Given the description of an element on the screen output the (x, y) to click on. 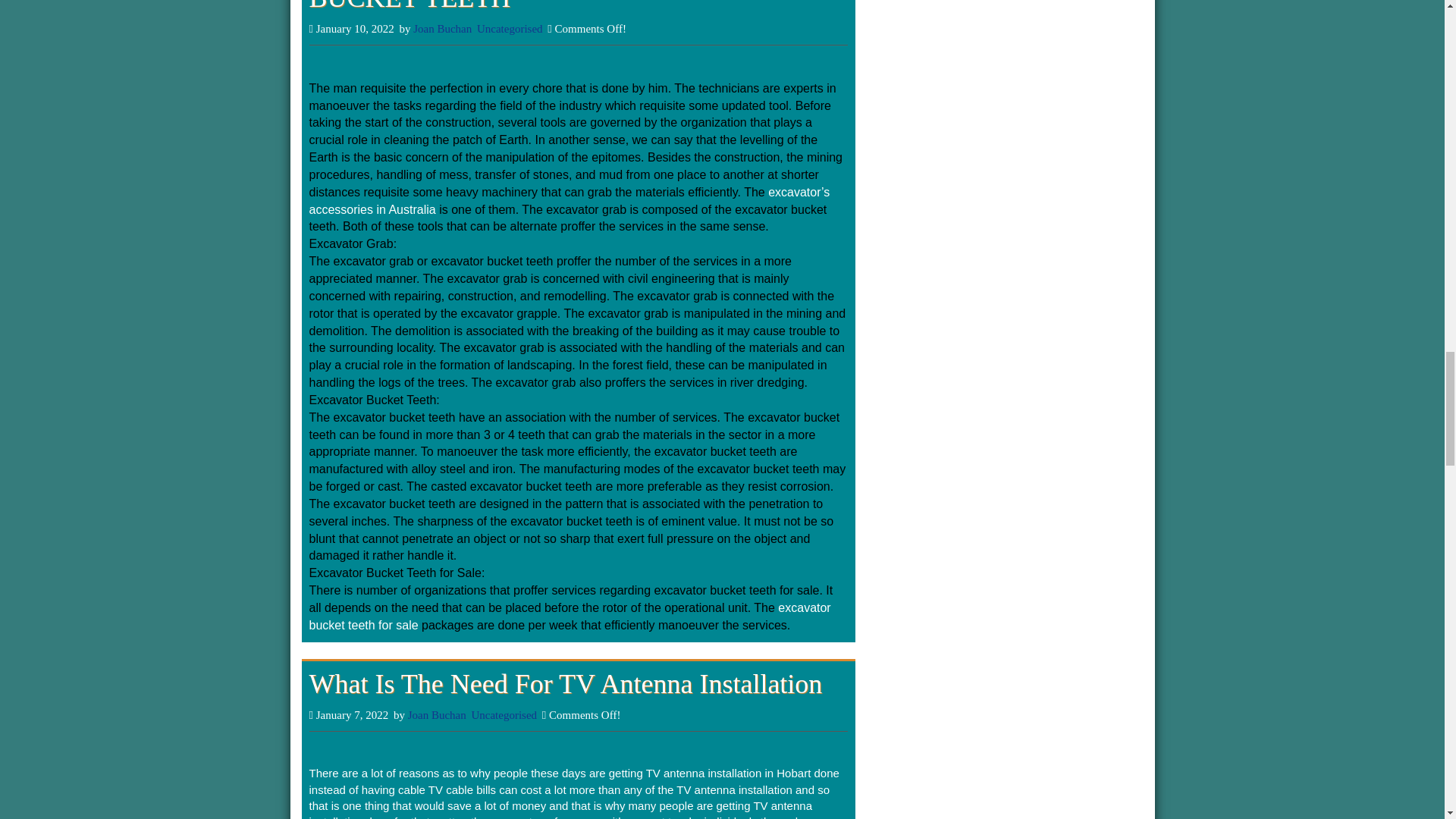
excavator bucket teeth for sale (569, 616)
EXCAVATOR GRAB AND EXCAVATOR BUCKET TEETH (543, 6)
What Is The Need For TV Antenna Installation (565, 684)
excavator's accessories in Australia (568, 200)
TV antenna installation in Hobart (728, 772)
Joan Buchan (436, 715)
Uncategorised (503, 715)
Joan Buchan (442, 28)
excavator bucket teeth for sale (569, 616)
Uncategorised (510, 28)
